Given the description of an element on the screen output the (x, y) to click on. 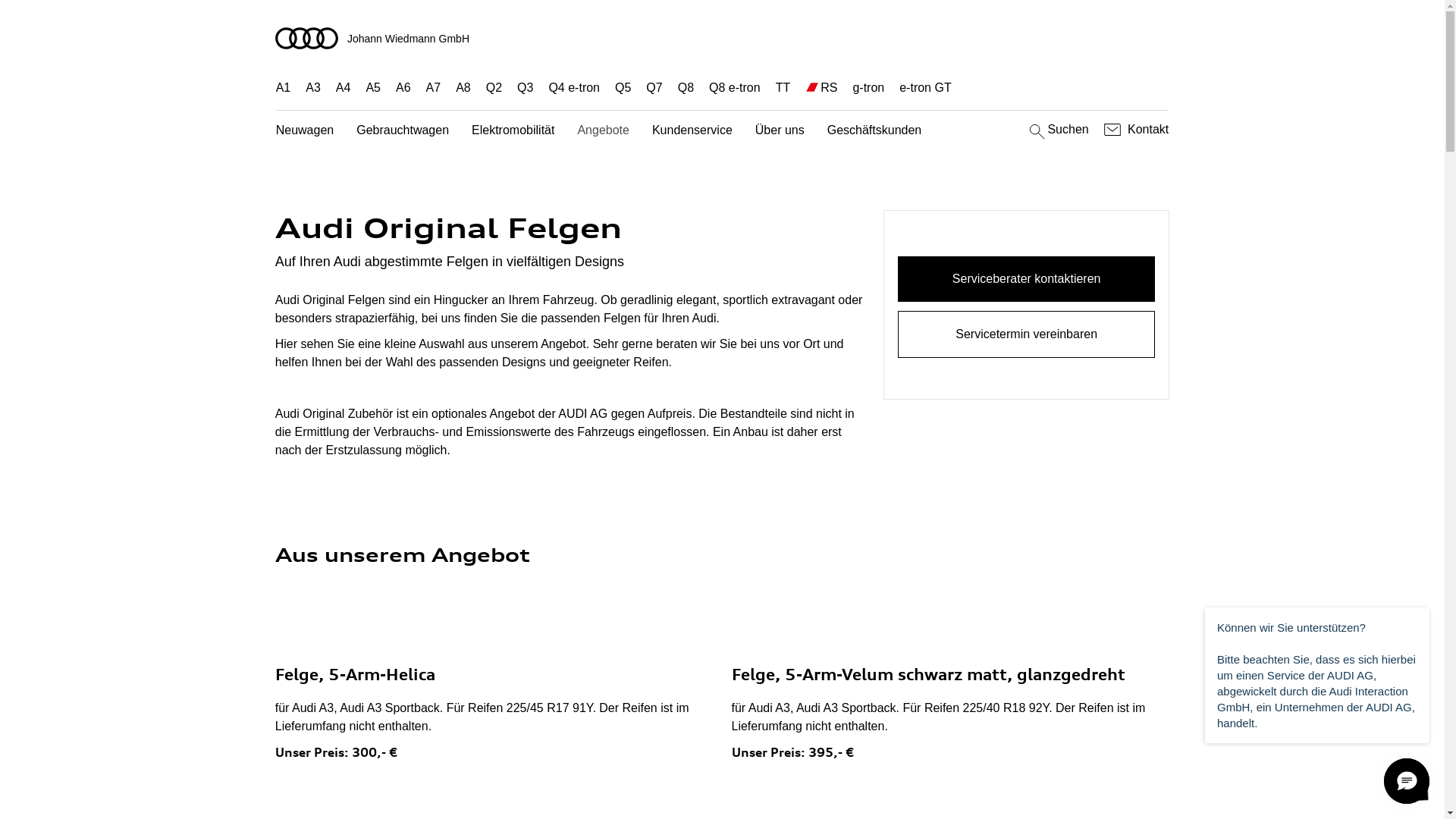
A1 Element type: text (283, 87)
Angebote Element type: text (603, 130)
A8 Element type: text (462, 87)
Acquire Live Chat Element type: hover (1406, 780)
A3 Element type: text (312, 87)
Serviceberater kontaktieren Element type: text (1025, 278)
e-tron GT Element type: text (924, 87)
Q5 Element type: text (622, 87)
Q8 e-tron Element type: text (734, 87)
TT Element type: text (782, 87)
Q7 Element type: text (654, 87)
Johann Wiedmann GmbH Element type: text (722, 38)
A5 Element type: text (372, 87)
Gebrauchtwagen Element type: text (402, 130)
Kundenservice Element type: text (692, 130)
A7 Element type: text (433, 87)
Q4 e-tron Element type: text (573, 87)
g-tron Element type: text (868, 87)
Q2 Element type: text (494, 87)
Q8 Element type: text (685, 87)
RS Element type: text (828, 87)
Kontakt Element type: text (1134, 129)
Suchen Element type: text (1056, 129)
Servicetermin vereinbaren Element type: text (1025, 333)
A6 Element type: text (403, 87)
A4 Element type: text (343, 87)
Q3 Element type: text (525, 87)
Neuwagen Element type: text (305, 130)
